Given the description of an element on the screen output the (x, y) to click on. 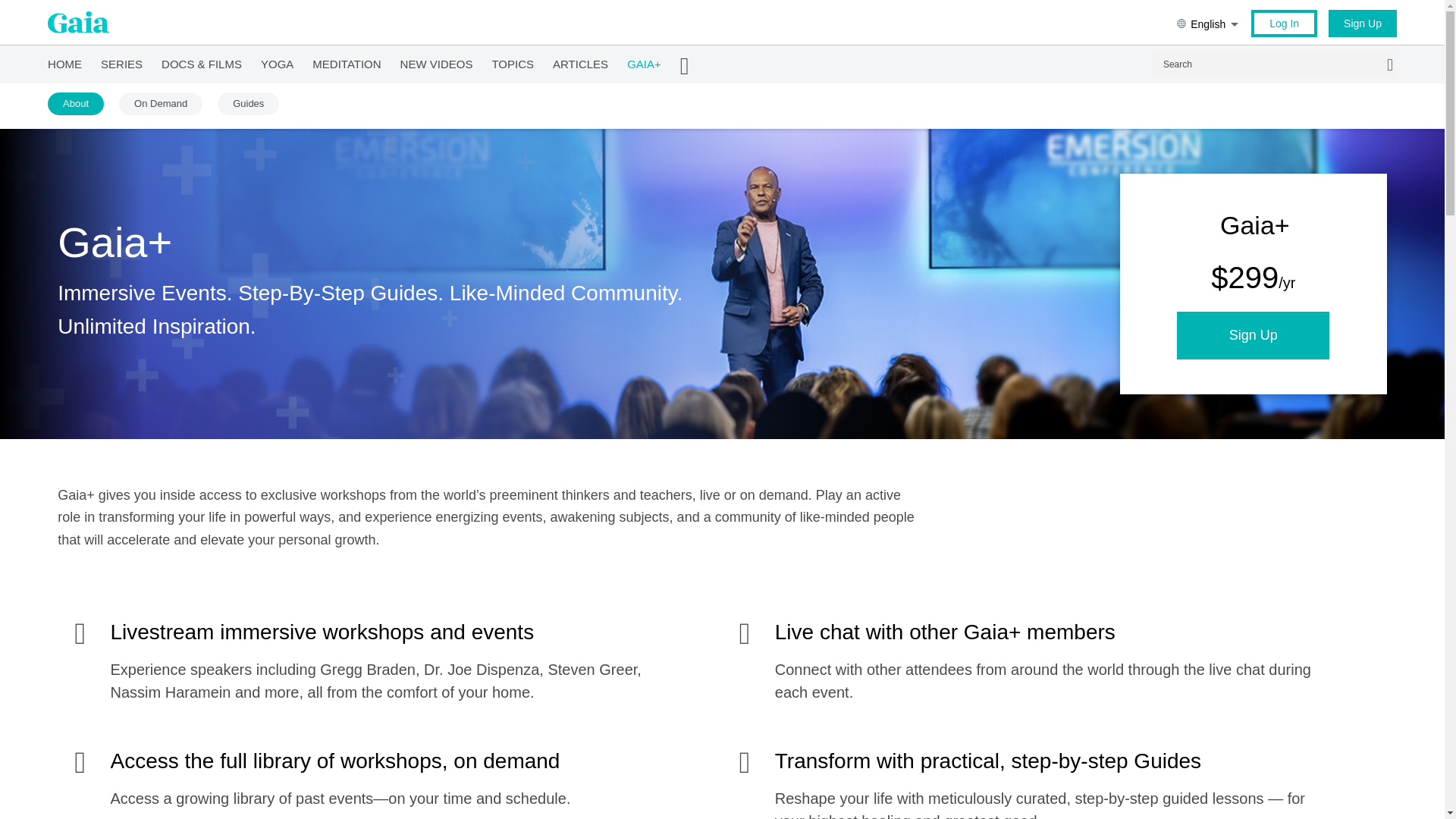
Sign Up (1361, 22)
HOME (64, 64)
TOPICS (513, 64)
NEW VIDEOS (436, 64)
Sign Up (1252, 335)
On Demand (160, 103)
MEDITATION (346, 64)
Log In (1283, 22)
ARTICLES (580, 64)
Guides (247, 103)
SERIES (121, 64)
Gaia (78, 22)
About (75, 103)
